Given the description of an element on the screen output the (x, y) to click on. 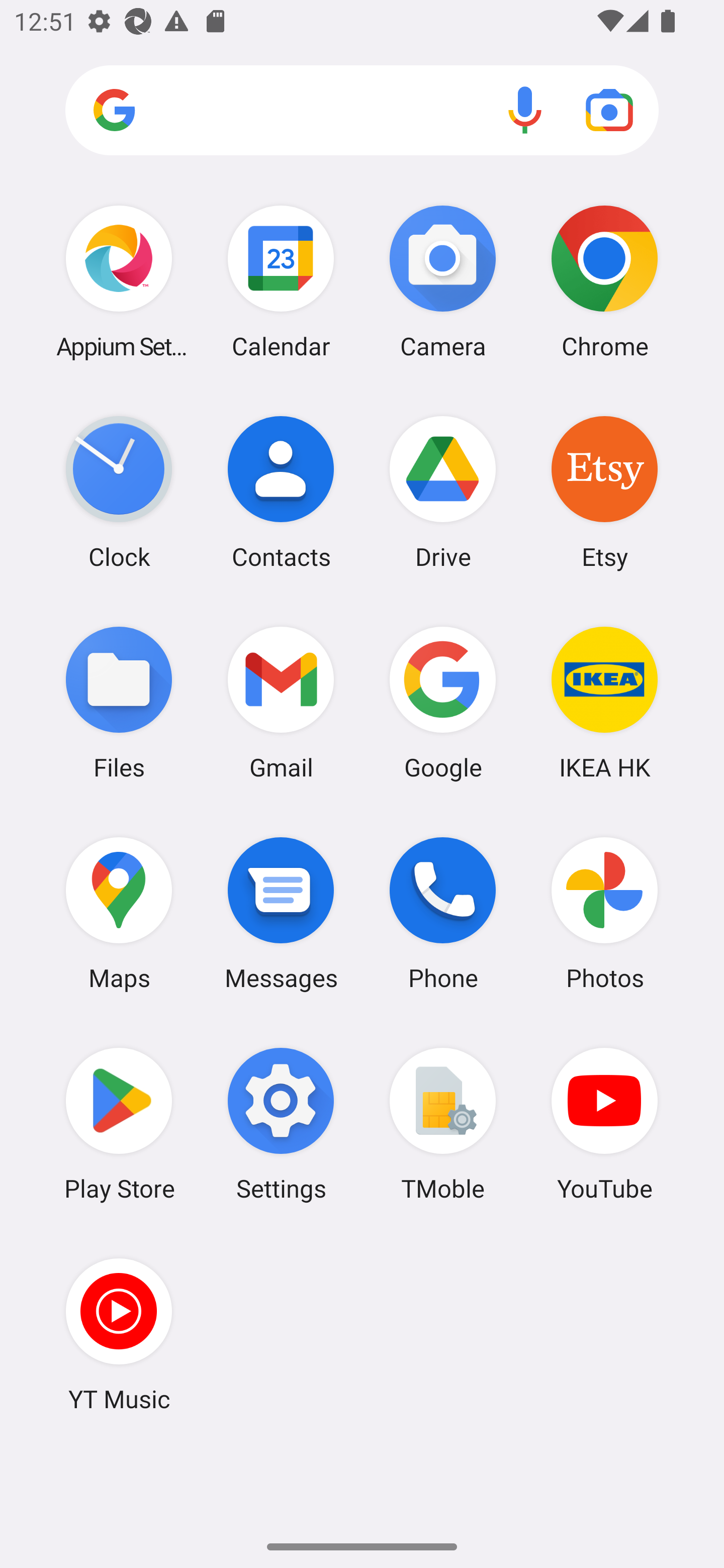
Search apps, web and more (361, 110)
Voice search (524, 109)
Google Lens (608, 109)
Appium Settings (118, 281)
Calendar (280, 281)
Camera (443, 281)
Chrome (604, 281)
Clock (118, 492)
Contacts (280, 492)
Drive (443, 492)
Etsy (604, 492)
Files (118, 702)
Gmail (280, 702)
Google (443, 702)
IKEA HK (604, 702)
Maps (118, 913)
Messages (280, 913)
Phone (443, 913)
Photos (604, 913)
Play Store (118, 1124)
Settings (280, 1124)
TMoble (443, 1124)
YouTube (604, 1124)
YT Music (118, 1334)
